Given the description of an element on the screen output the (x, y) to click on. 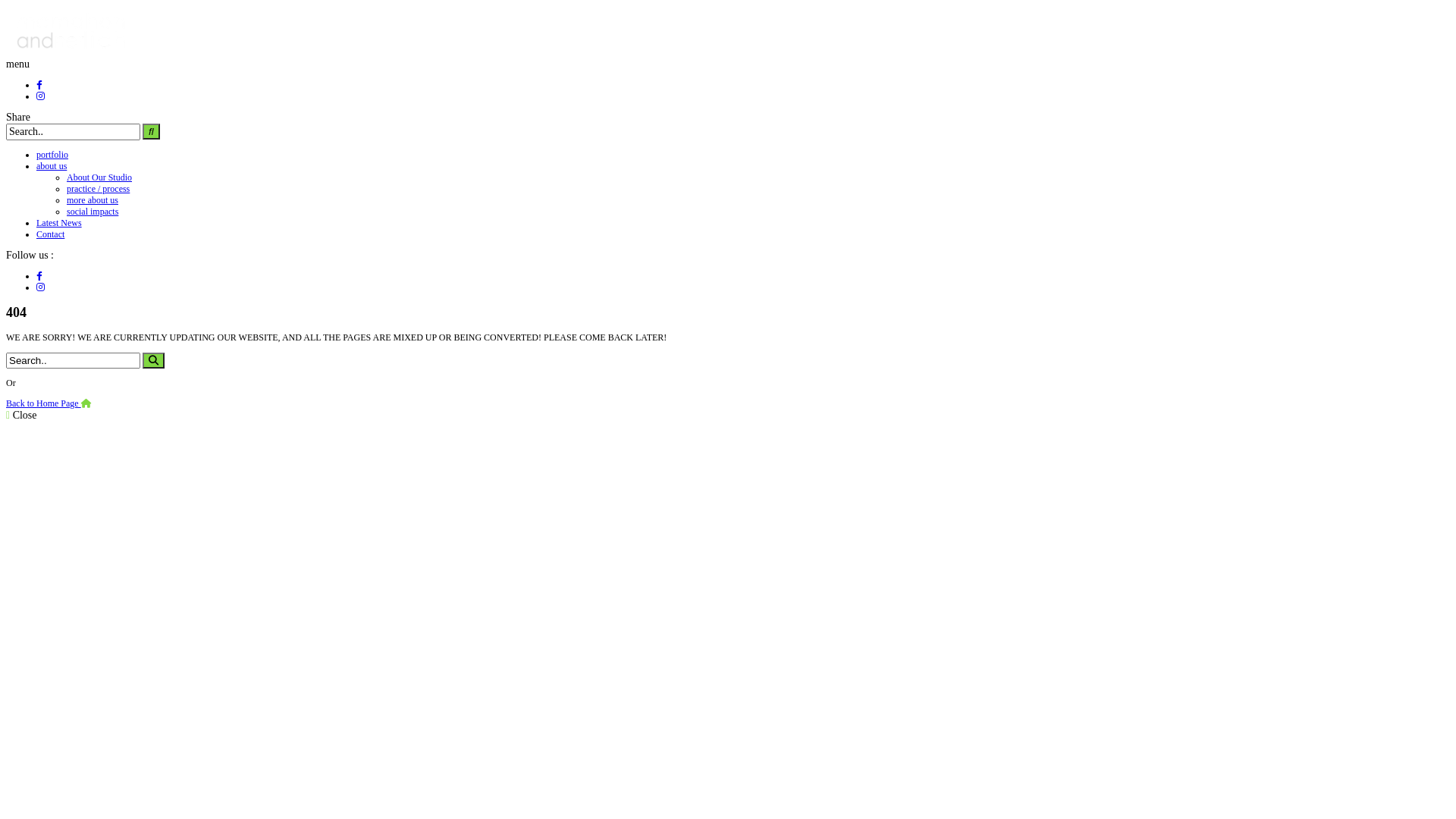
social impacts Element type: text (92, 211)
practice / process Element type: text (97, 188)
portfolio Element type: text (52, 154)
Back to Home Page Element type: text (48, 403)
About Our Studio Element type: text (98, 177)
Latest News Element type: text (58, 222)
Contact Element type: text (50, 234)
about us Element type: text (51, 165)
more about us Element type: text (92, 199)
